Given the description of an element on the screen output the (x, y) to click on. 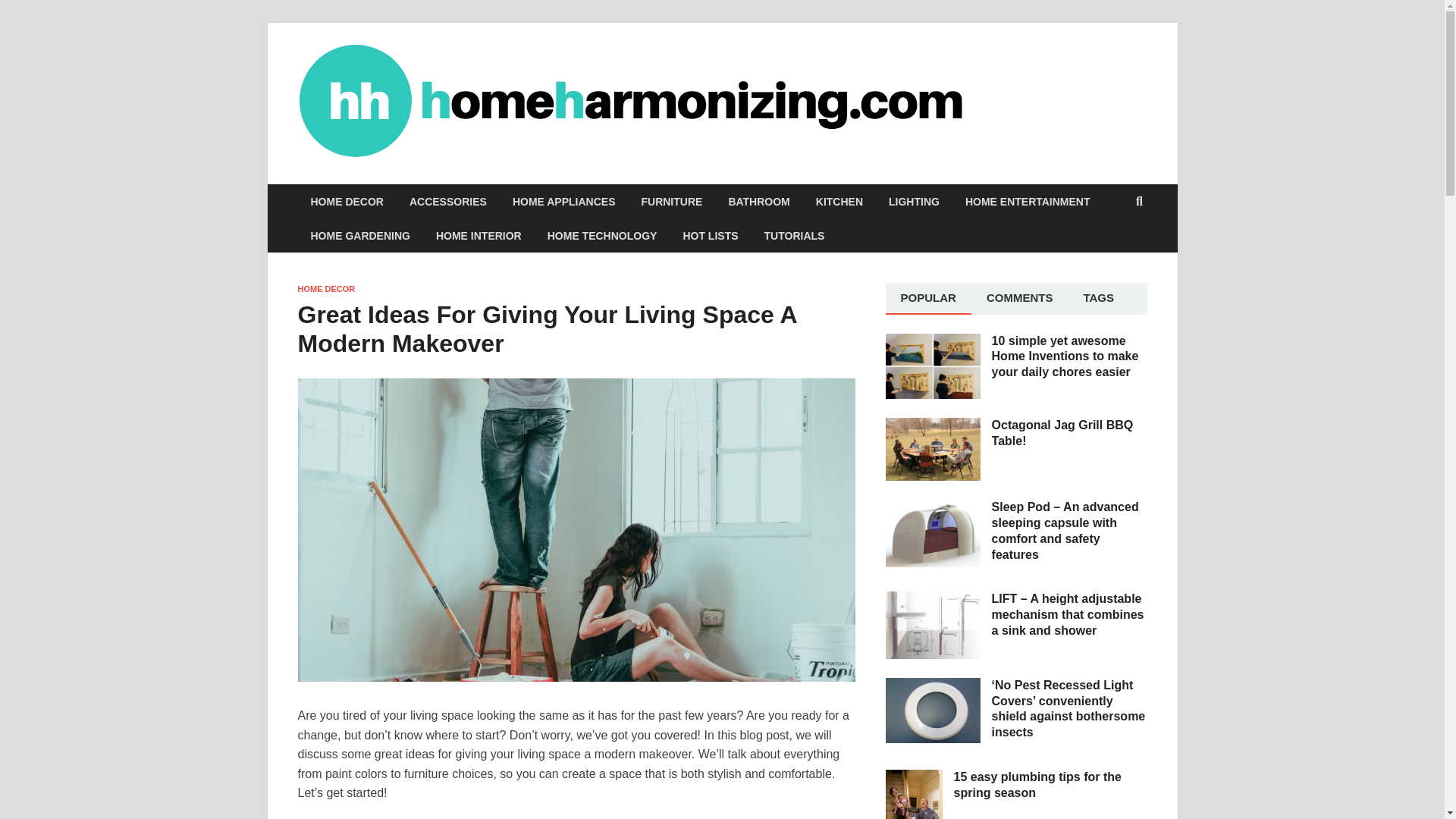
ACCESSORIES (447, 201)
HOT LISTS (710, 235)
KITCHEN (839, 201)
HOME INTERIOR (478, 235)
Octagonal Jag Grill BBQ Table! (932, 426)
HOME APPLIANCES (563, 201)
HOME DECOR (346, 201)
BATHROOM (758, 201)
LIGHTING (914, 201)
FURNITURE (670, 201)
Home Harmonizing (1076, 91)
TUTORIALS (794, 235)
HOME ENTERTAINMENT (1027, 201)
HOME TECHNOLOGY (601, 235)
